Given the description of an element on the screen output the (x, y) to click on. 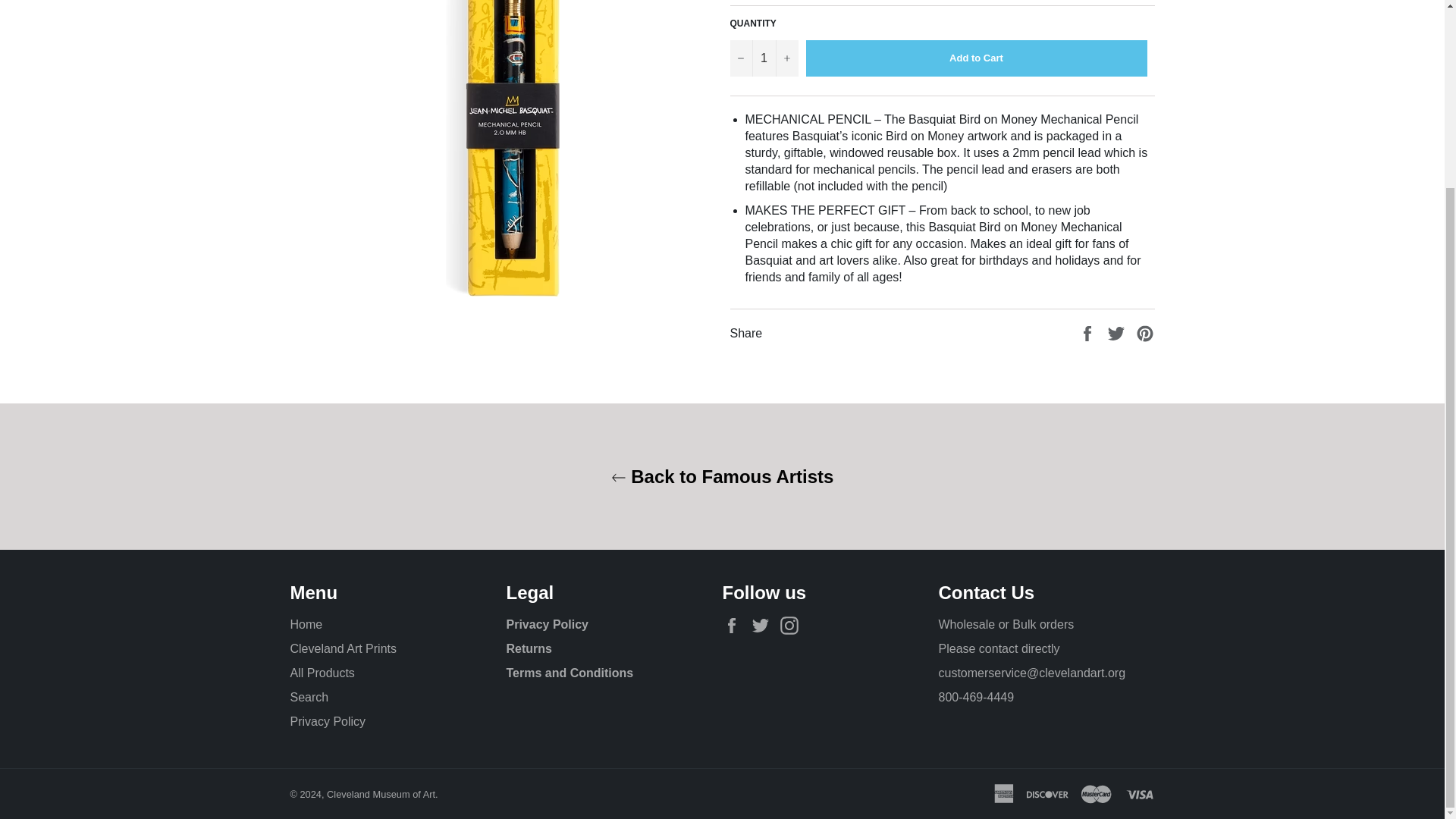
Share on Facebook (1088, 332)
Cleveland Museum of Art on Facebook (735, 625)
Cleveland Museum of Art on Twitter (764, 625)
Tweet on Twitter (1117, 332)
Refund Policy (528, 648)
Pin on Pinterest (1144, 332)
1 (763, 58)
Cleveland Museum of Art on Instagram (793, 625)
